Given the description of an element on the screen output the (x, y) to click on. 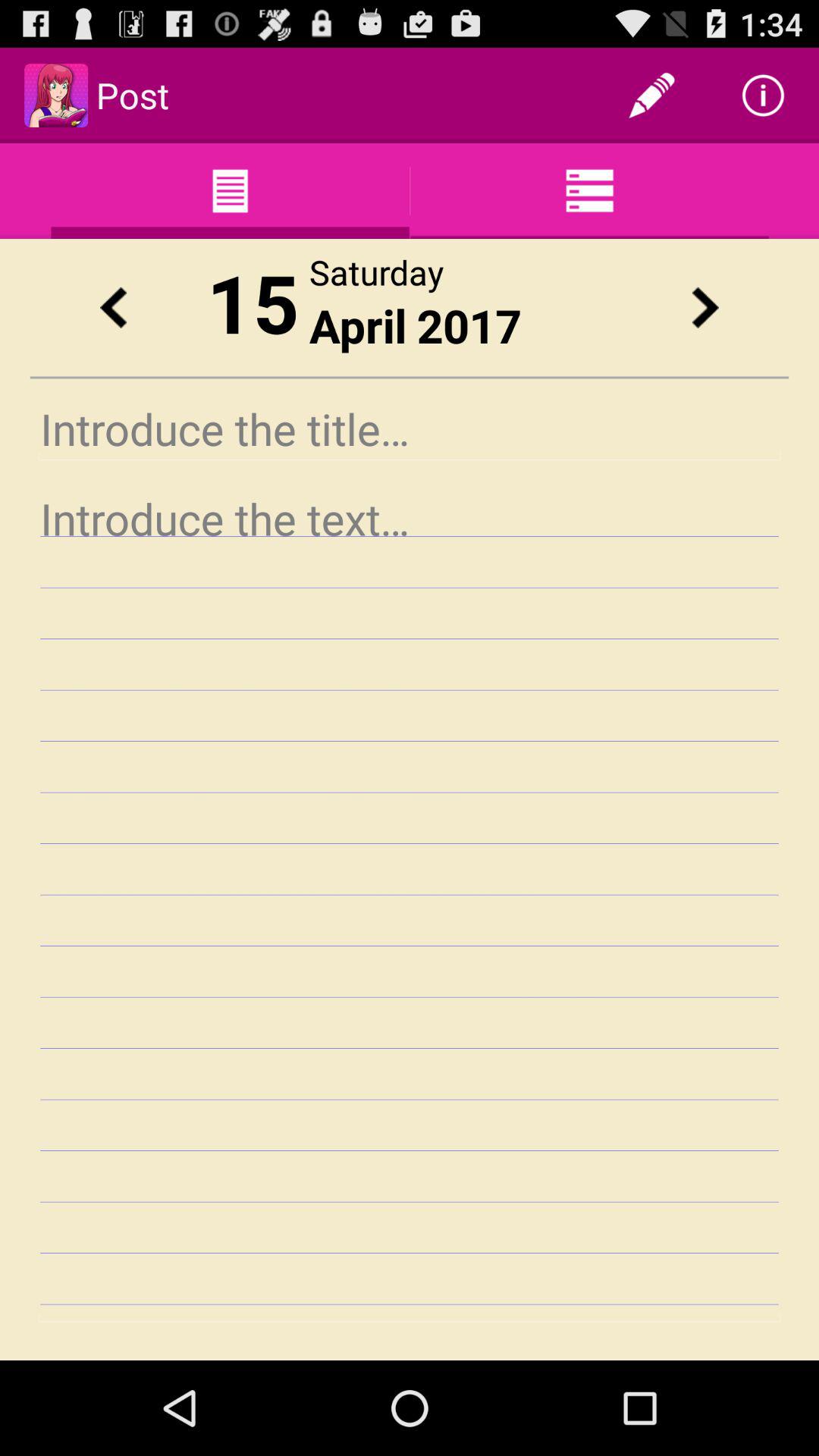
choose app next to post (651, 95)
